Given the description of an element on the screen output the (x, y) to click on. 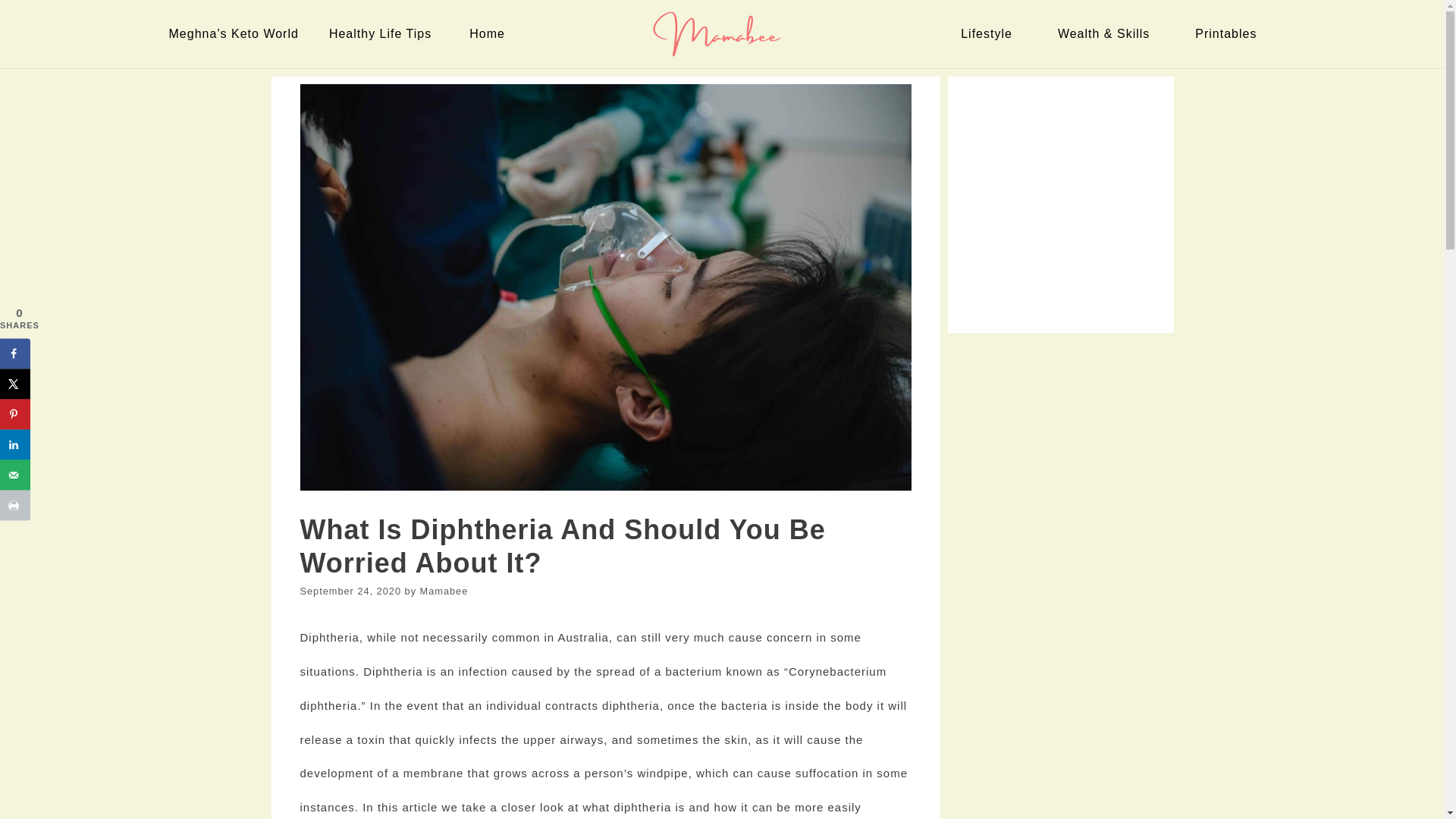
Lifestyle (989, 33)
Save to Pinterest (15, 413)
Share on Facebook (15, 353)
Home (490, 33)
Share on LinkedIn (15, 444)
Healthy Life Tips (383, 33)
Share on X (15, 383)
View all posts by Mamabee (444, 591)
